Given the description of an element on the screen output the (x, y) to click on. 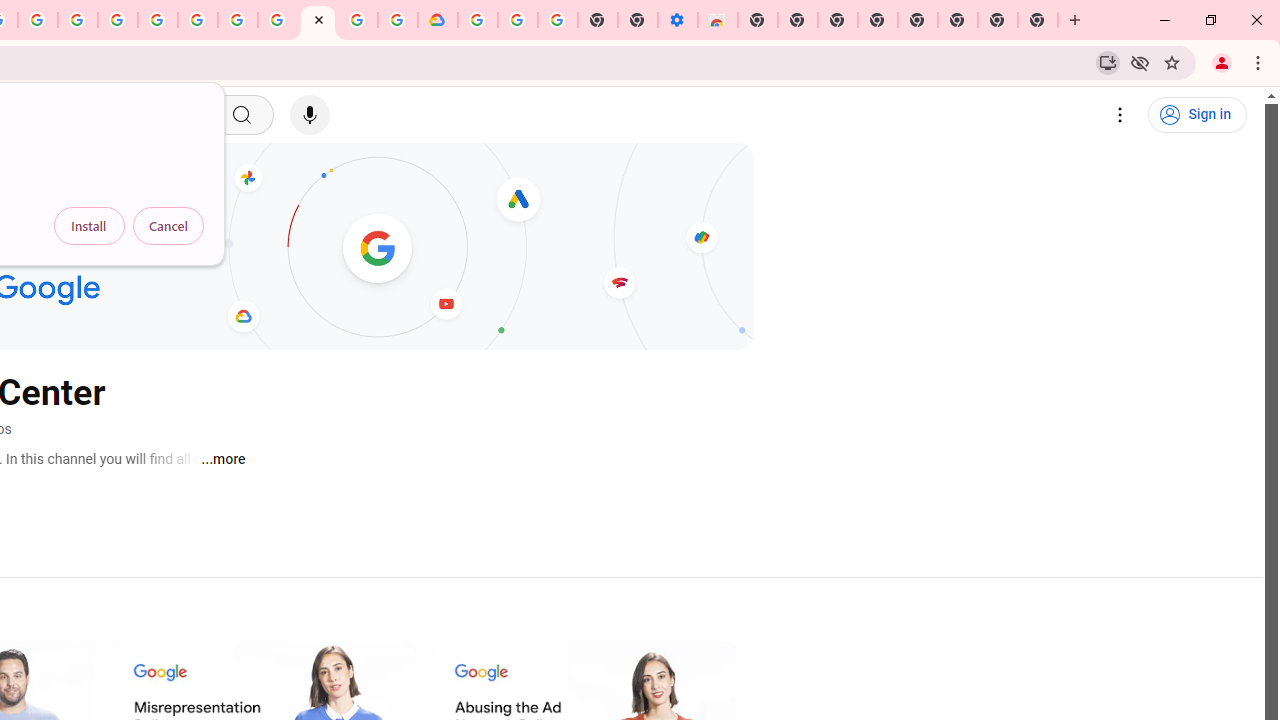
Turn cookies on or off - Computer - Google Account Help (557, 20)
